Given the description of an element on the screen output the (x, y) to click on. 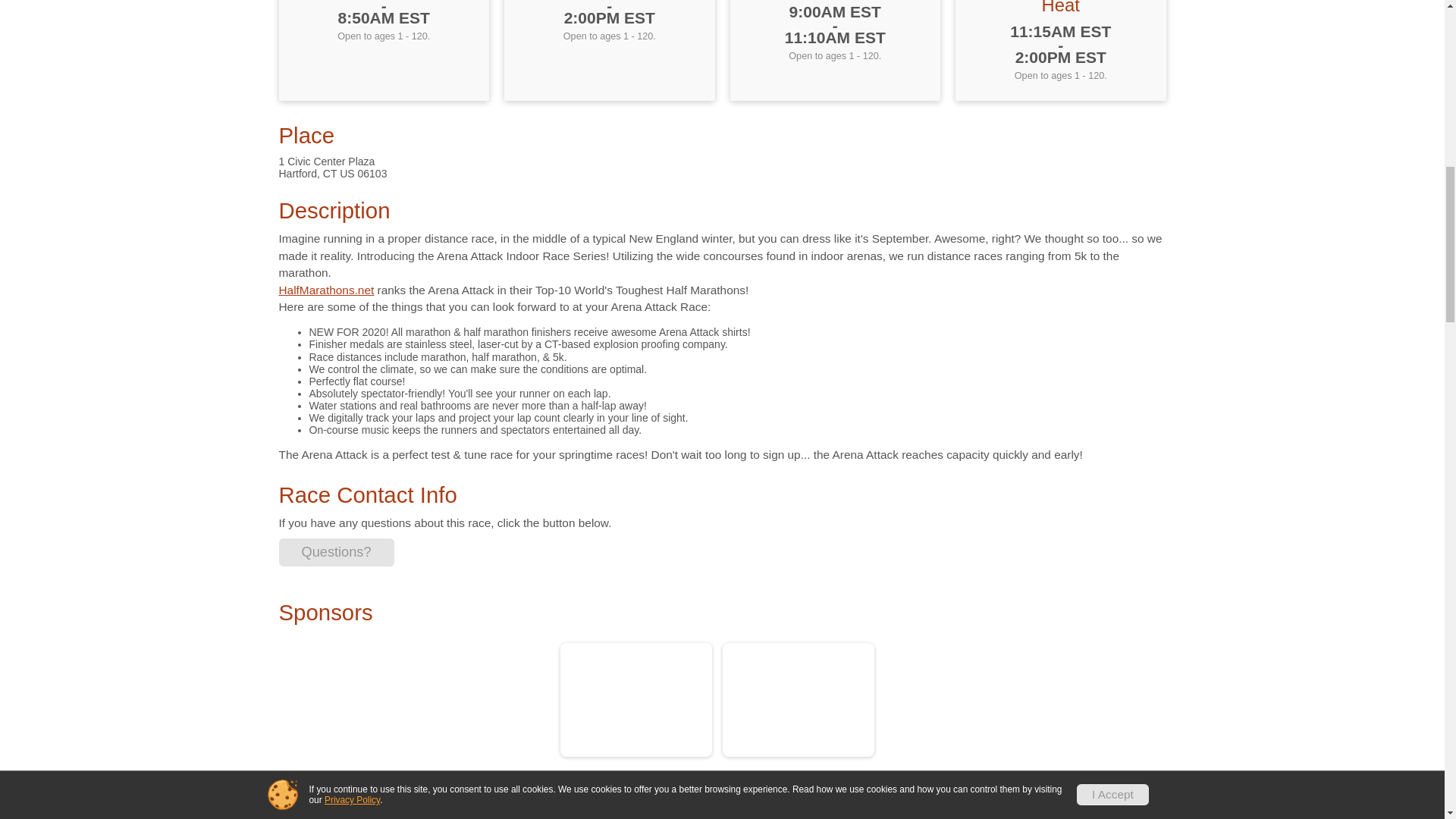
Questions? (336, 552)
Arena Attack - Half Marathon-11:15AM Heat (1061, 7)
HalfMarathons.net (326, 289)
